Given the description of an element on the screen output the (x, y) to click on. 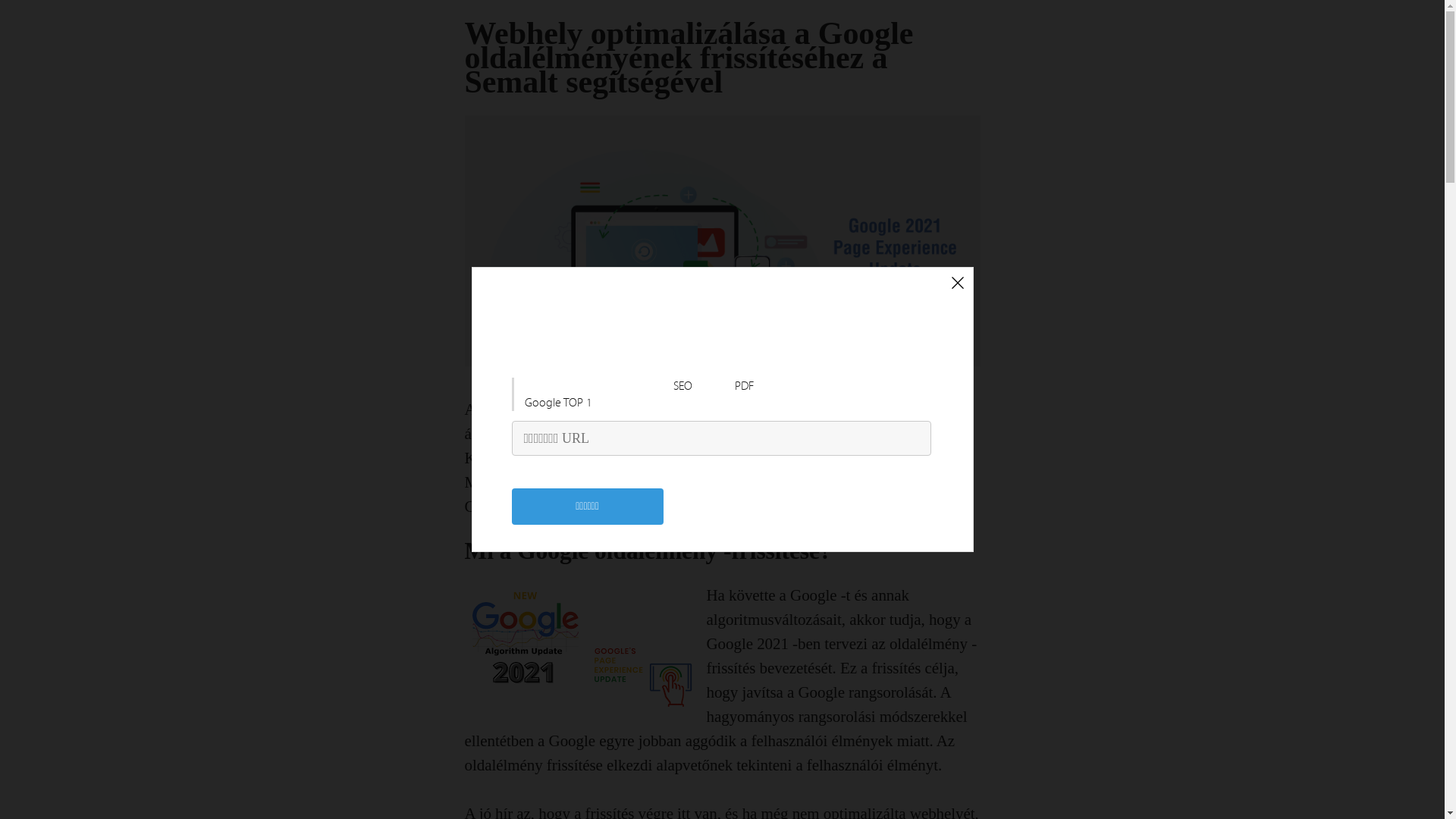
Semalt Element type: text (637, 433)
